Given the description of an element on the screen output the (x, y) to click on. 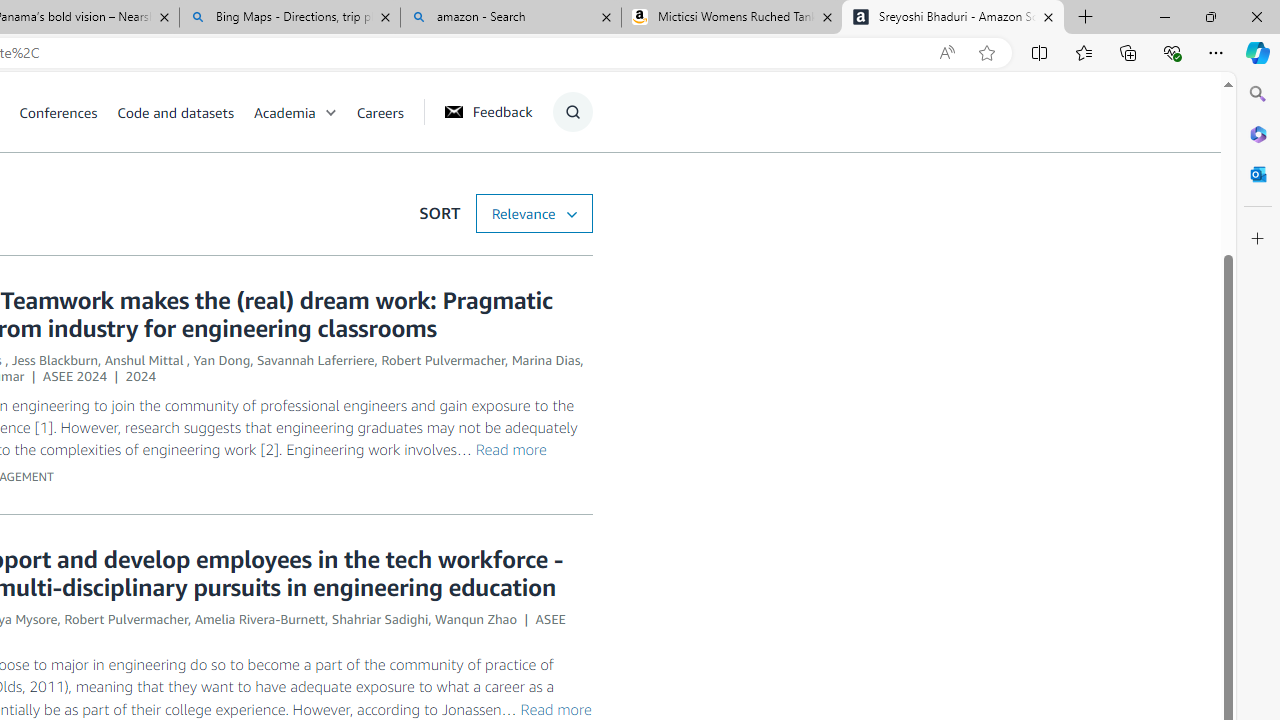
Submit Search (565, 191)
Academia (305, 111)
Sreyoshi Bhaduri - Amazon Science (953, 17)
Code and datasets (175, 111)
amazon - Search (510, 17)
Show Search Form (571, 111)
Wanqun Zhao (475, 619)
Amelia Rivera-Burnett (260, 619)
